Given the description of an element on the screen output the (x, y) to click on. 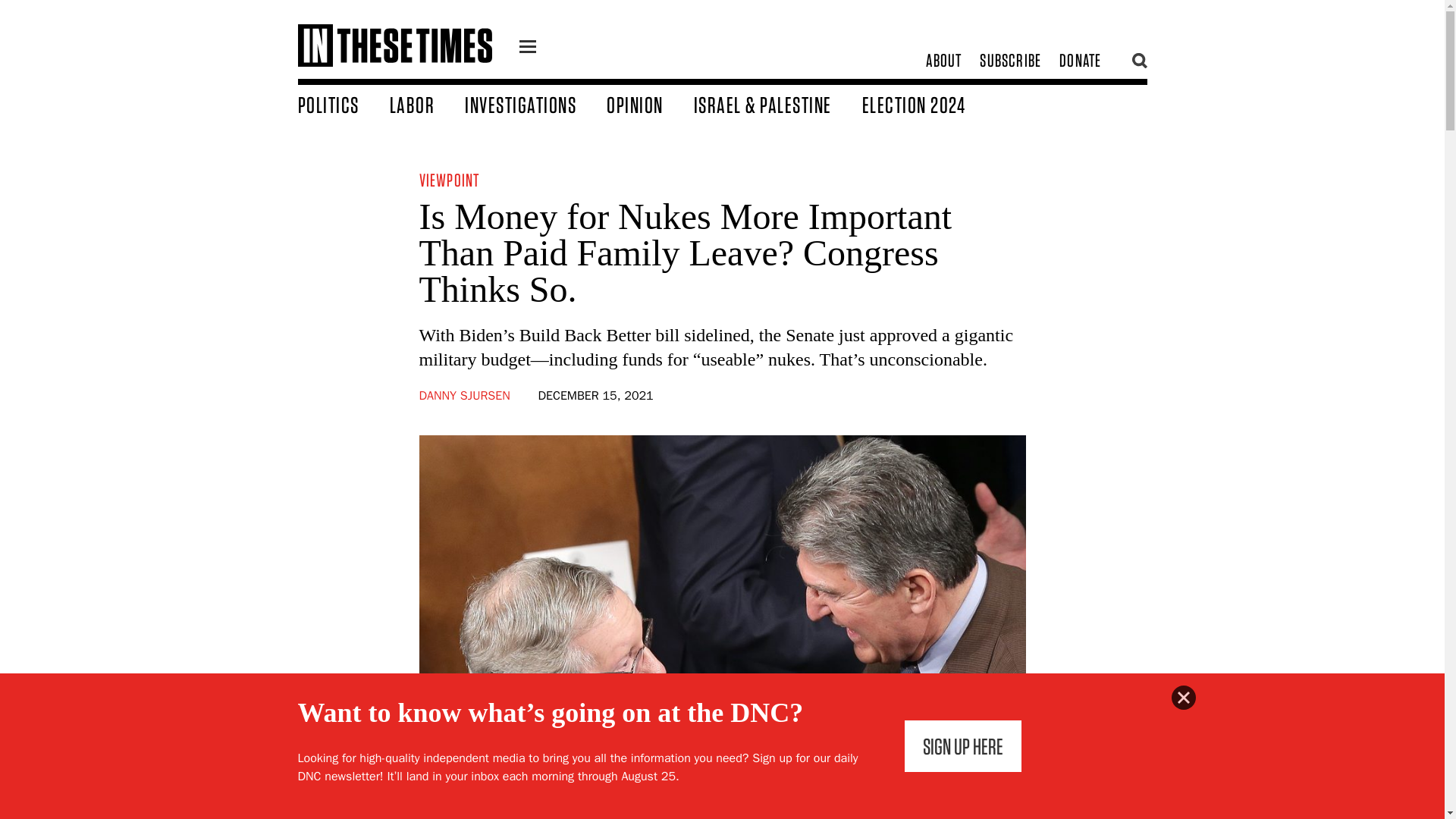
VIEWPOINT (449, 179)
SUBSCRIBE (1010, 60)
INVESTIGATIONS (535, 103)
POLITICS (342, 103)
DONATE (1079, 60)
LABOR (427, 103)
ELECTION 2024 (928, 103)
DANNY SJURSEN (464, 395)
OPINION (650, 103)
